Given the description of an element on the screen output the (x, y) to click on. 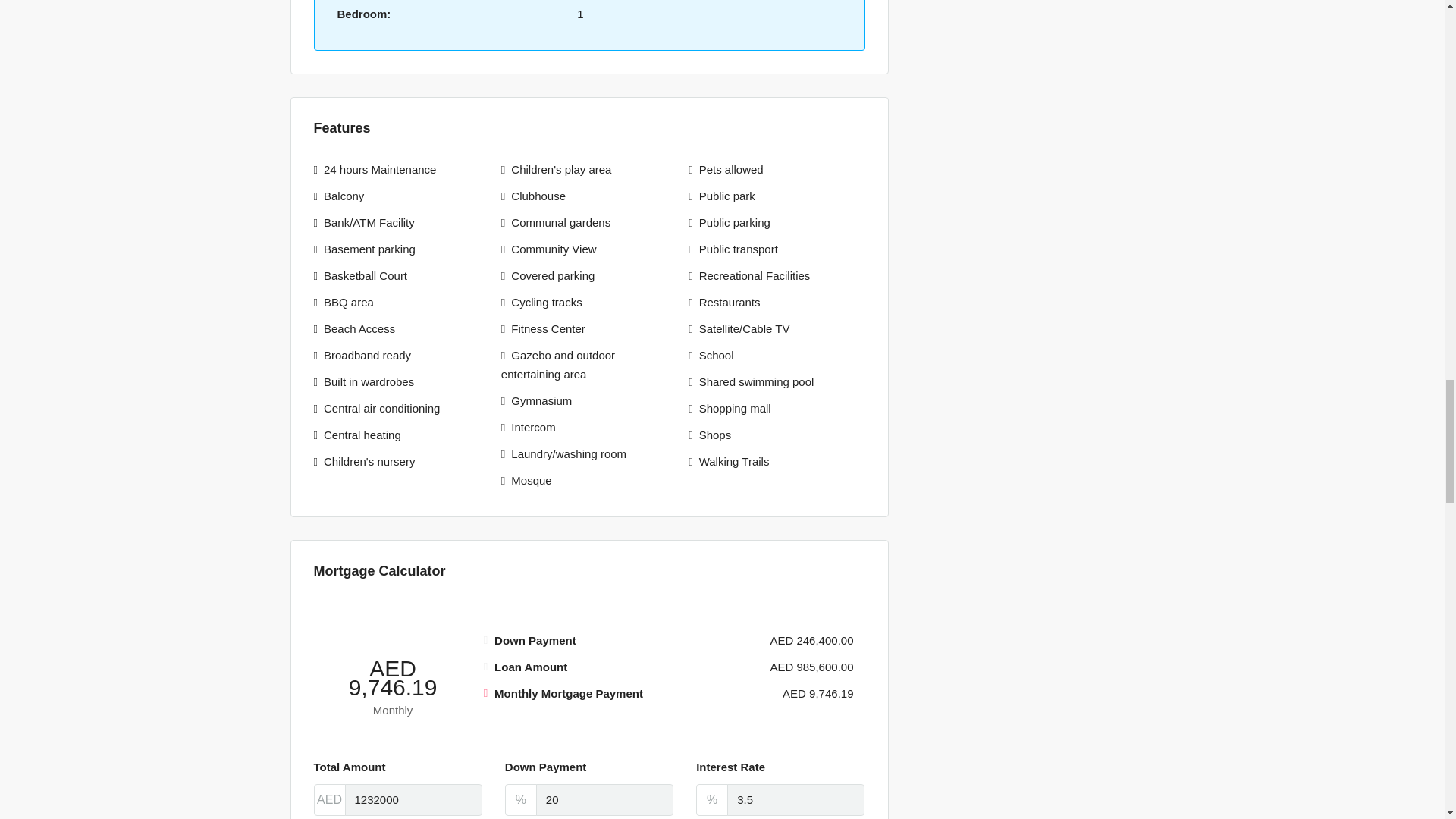
1232000 (412, 799)
20 (603, 799)
3.5 (795, 799)
